Given the description of an element on the screen output the (x, y) to click on. 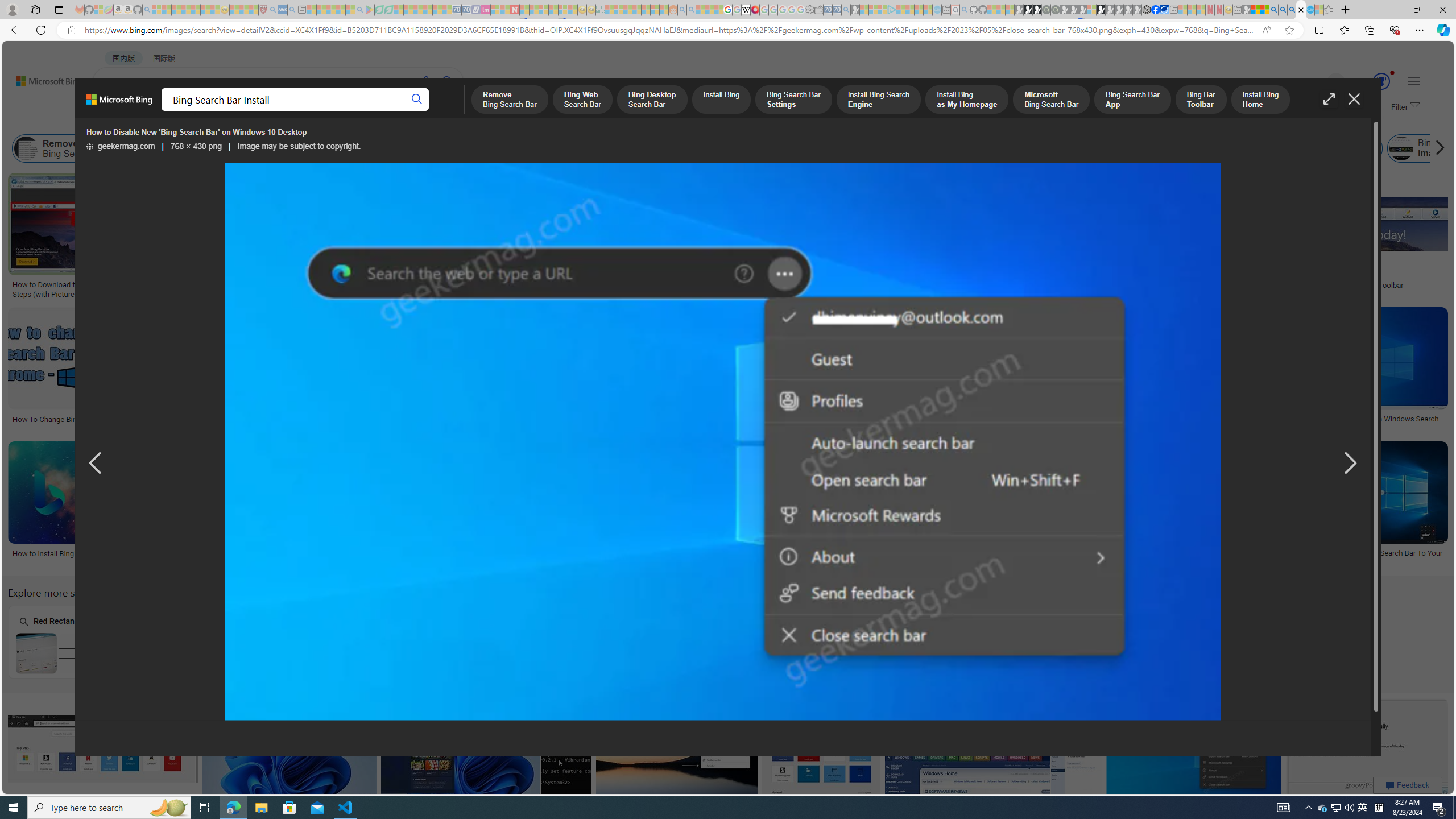
Stickers (704, 280)
Install Bing (338, 148)
Home Screen (515, 641)
Install Bing Search Engine (588, 148)
AutomationID: serp_medal_svg (1381, 81)
